Given the description of an element on the screen output the (x, y) to click on. 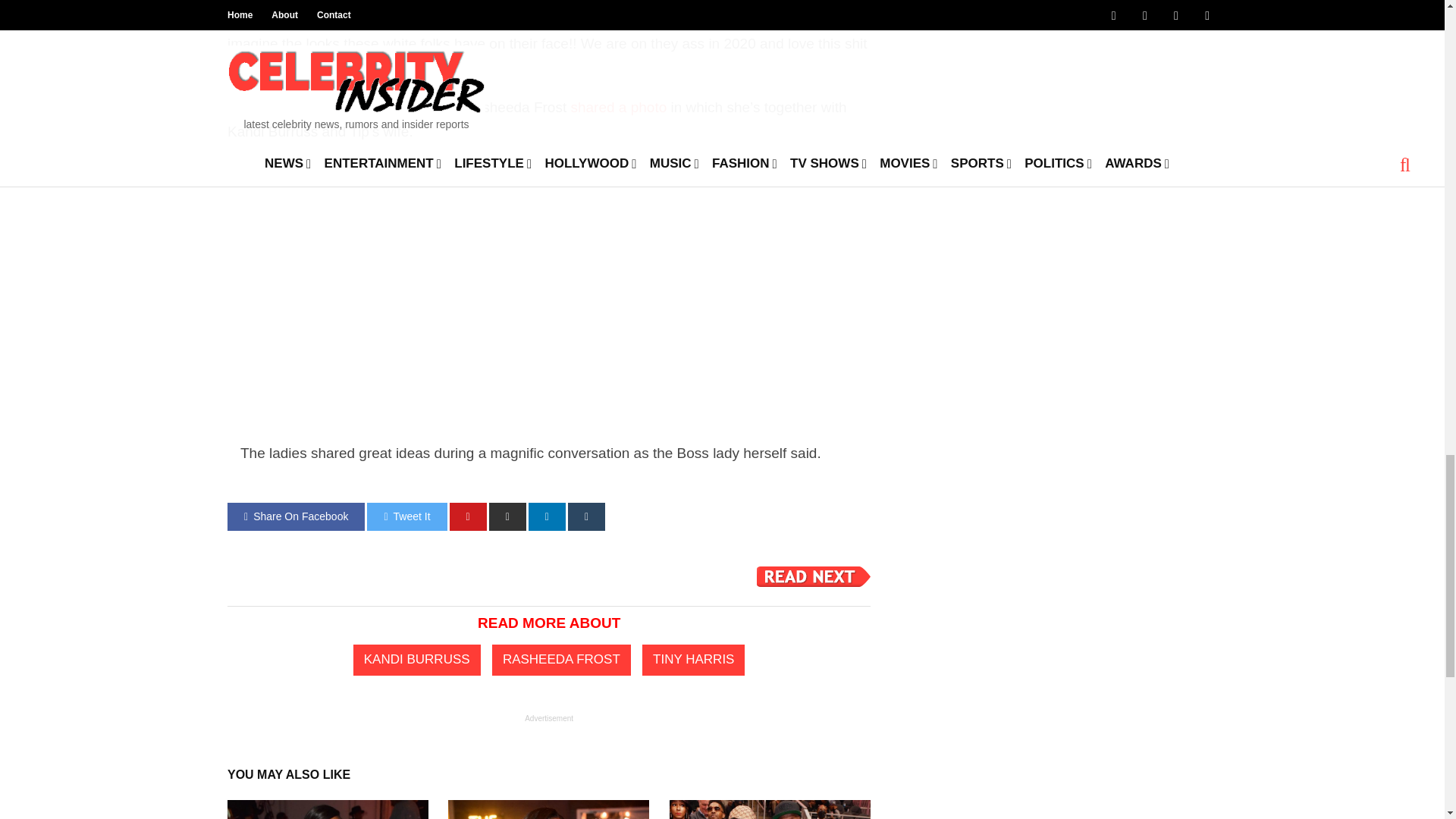
Share On Twitter (406, 516)
Share On Tumblr (586, 516)
Share On Reddit (507, 516)
Share On Facebook (296, 516)
Share On Linkedin (547, 516)
Share On Pinterest (467, 516)
